Given the description of an element on the screen output the (x, y) to click on. 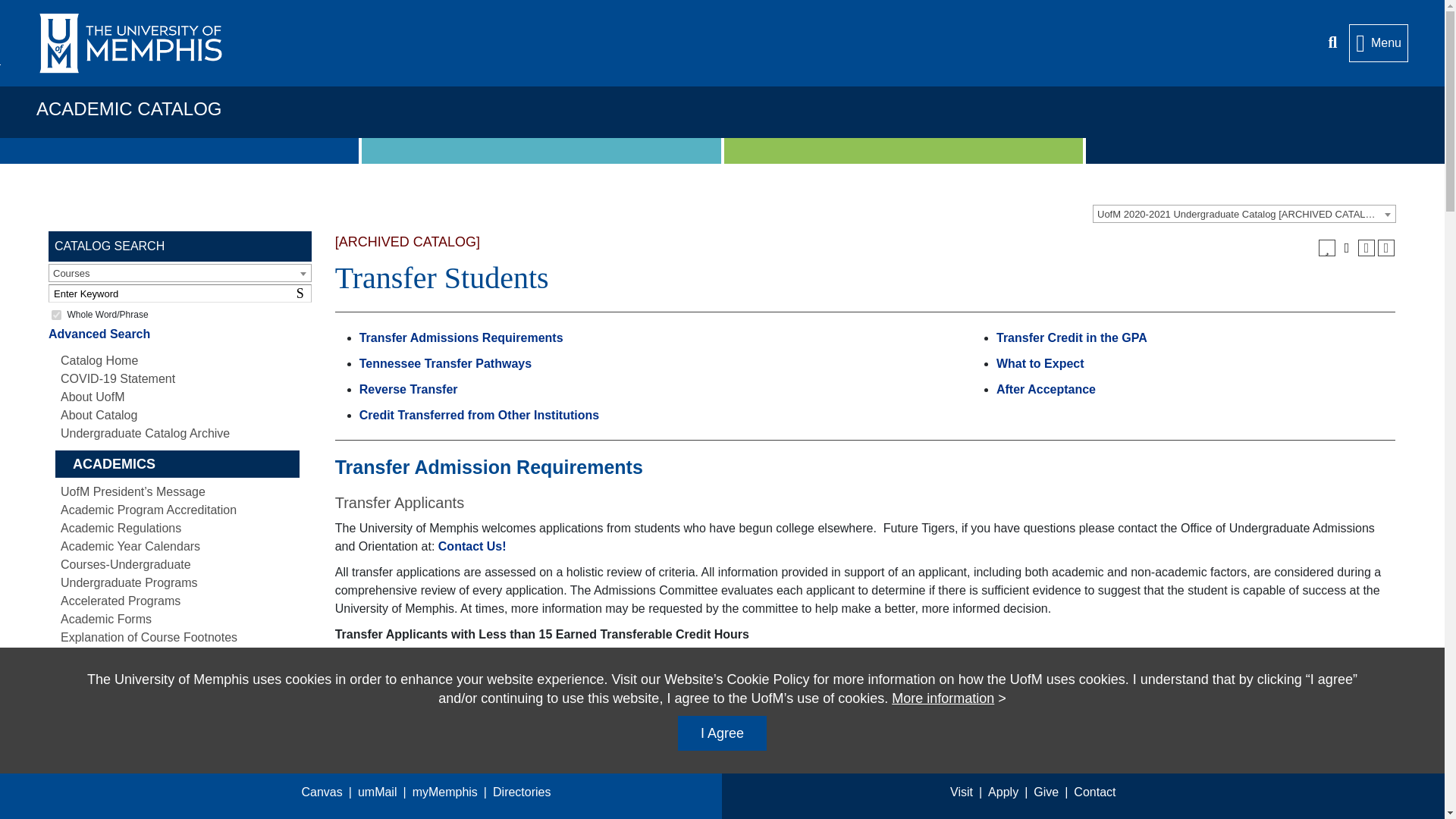
1 (55, 315)
Enter Keyword   (179, 293)
